Given the description of an element on the screen output the (x, y) to click on. 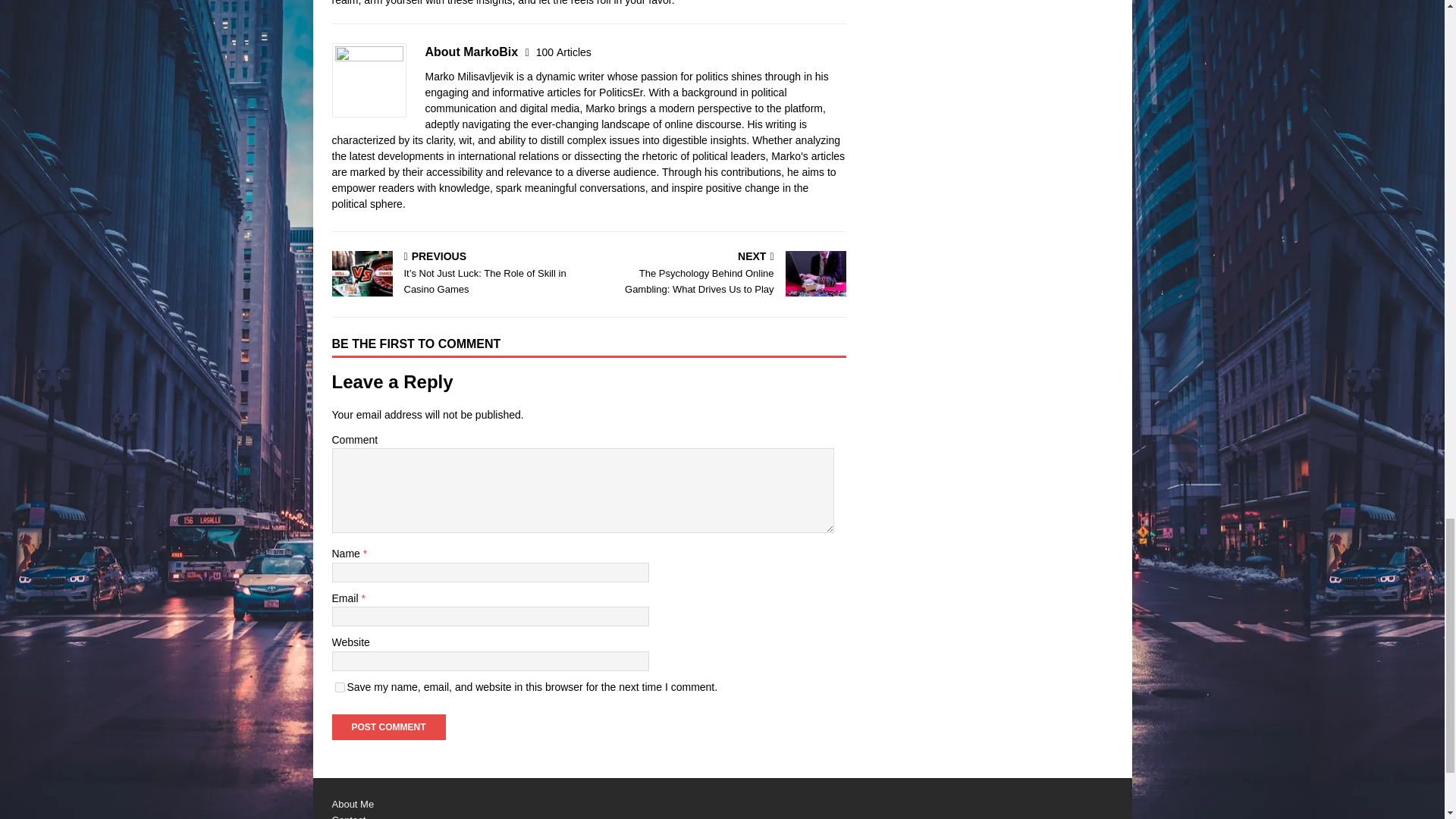
Post Comment (388, 727)
yes (339, 687)
100 Articles (563, 51)
More articles written by MarkoBix' (563, 51)
Post Comment (388, 727)
